Given the description of an element on the screen output the (x, y) to click on. 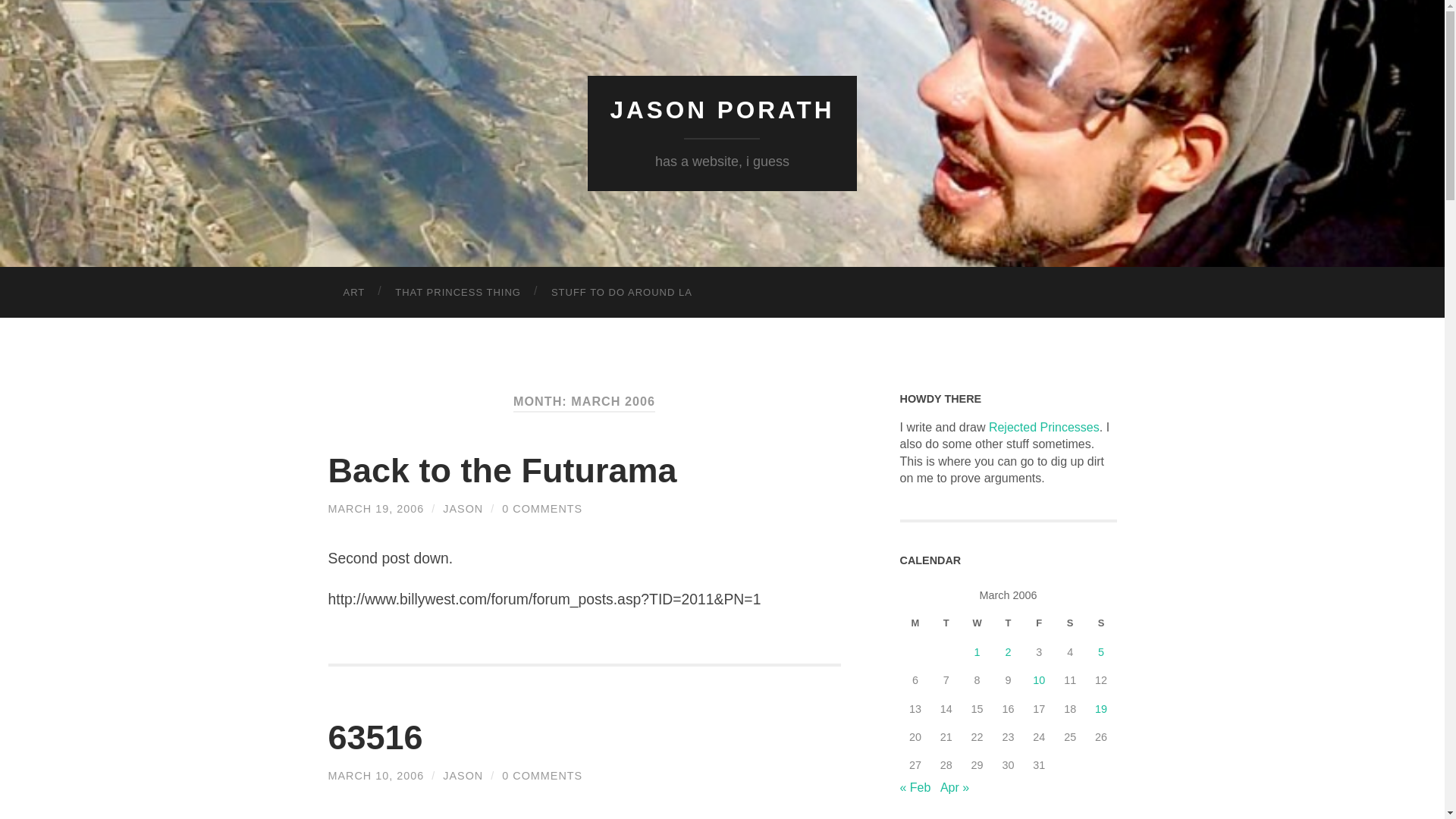
0 COMMENTS (542, 775)
63516 (374, 737)
63516 (375, 775)
Posts by Jason (462, 775)
Back to the Futurama (502, 470)
10 (1038, 680)
JASON PORATH (722, 109)
MARCH 19, 2006 (375, 508)
0 COMMENTS (542, 508)
ART (353, 291)
Monday (914, 624)
JASON (462, 775)
Posts by Jason (462, 508)
JASON (462, 508)
THAT PRINCESS THING (457, 291)
